Given the description of an element on the screen output the (x, y) to click on. 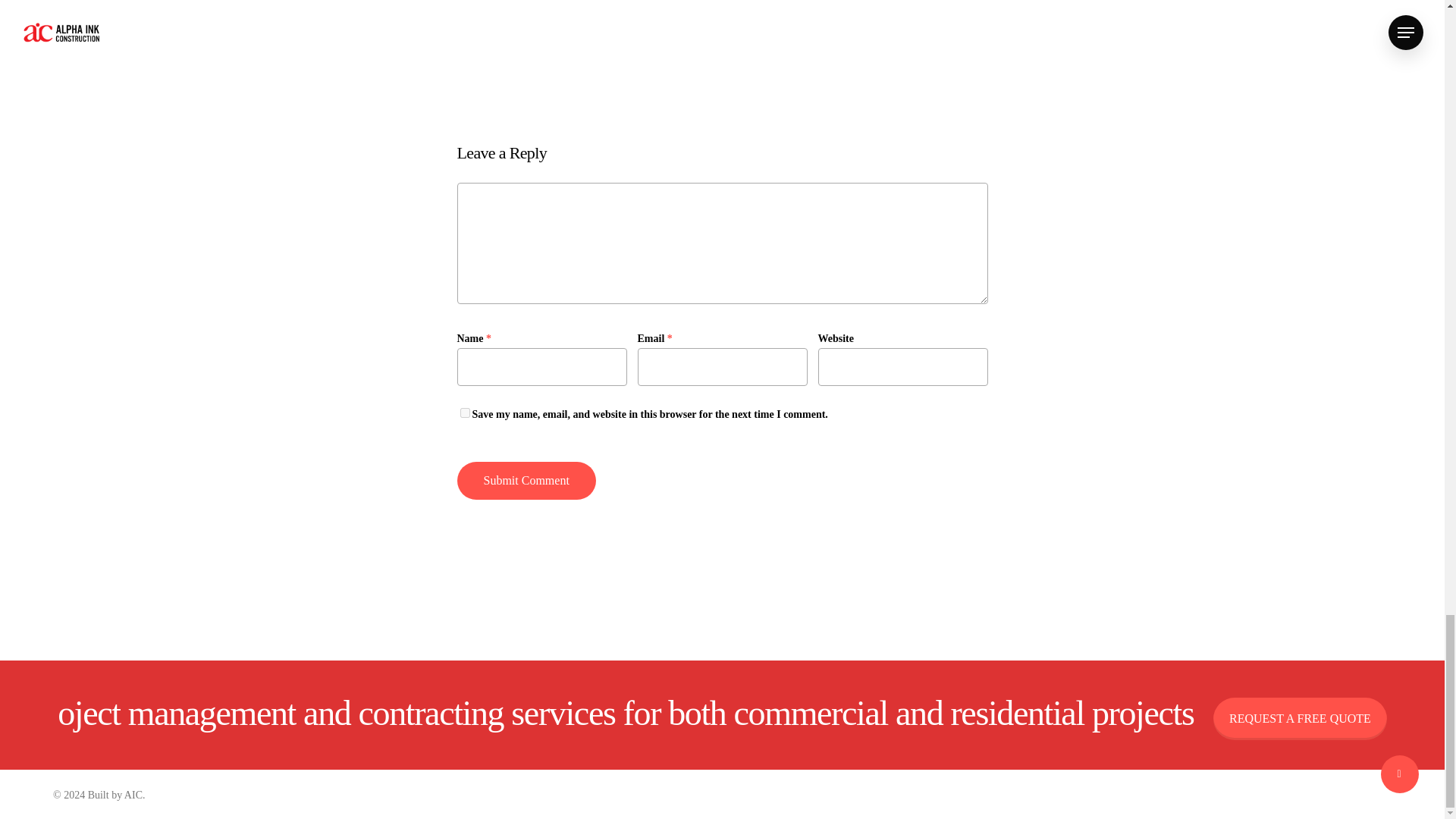
Submit Comment (526, 479)
Submit Comment (526, 479)
yes (464, 412)
